Given the description of an element on the screen output the (x, y) to click on. 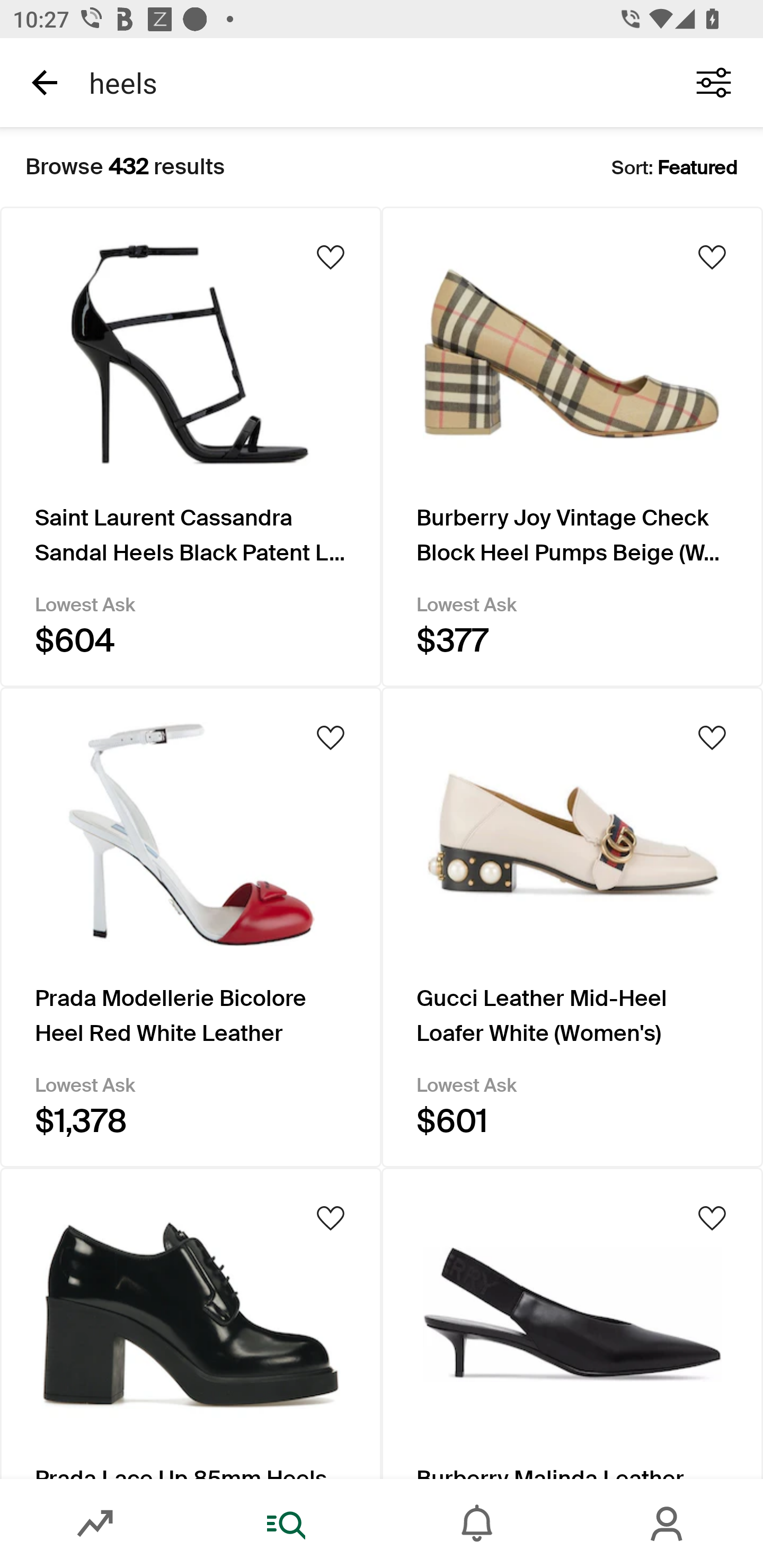
heels (370, 82)
Market (95, 1523)
Inbox (476, 1523)
Account (667, 1523)
